Given the description of an element on the screen output the (x, y) to click on. 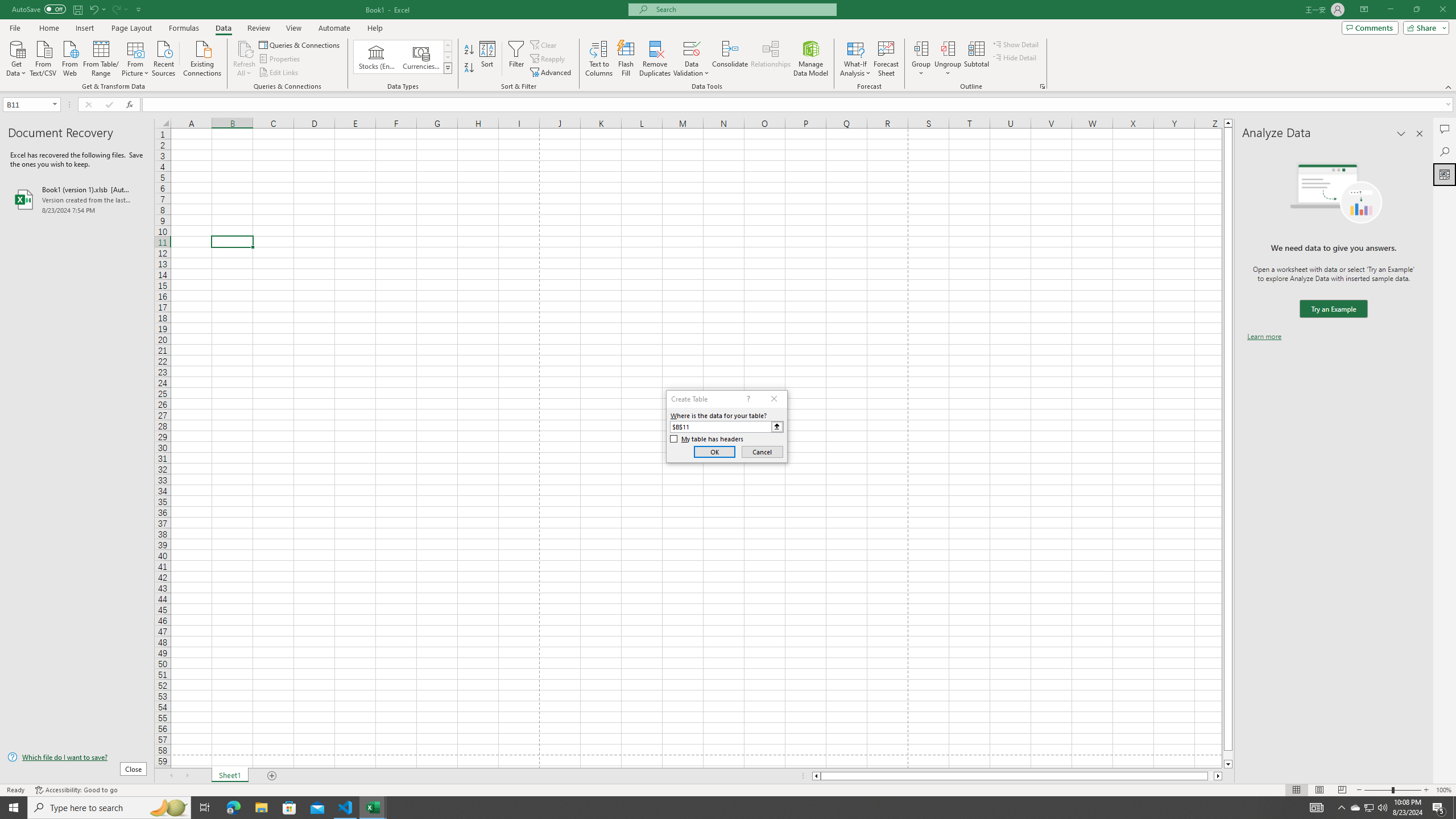
Consolidate... (729, 58)
Stocks (English) (375, 56)
Existing Connections (202, 57)
From Picture (135, 57)
Reapply (548, 58)
Data Types (448, 67)
Queries & Connections (300, 44)
Get Data (16, 57)
